Given the description of an element on the screen output the (x, y) to click on. 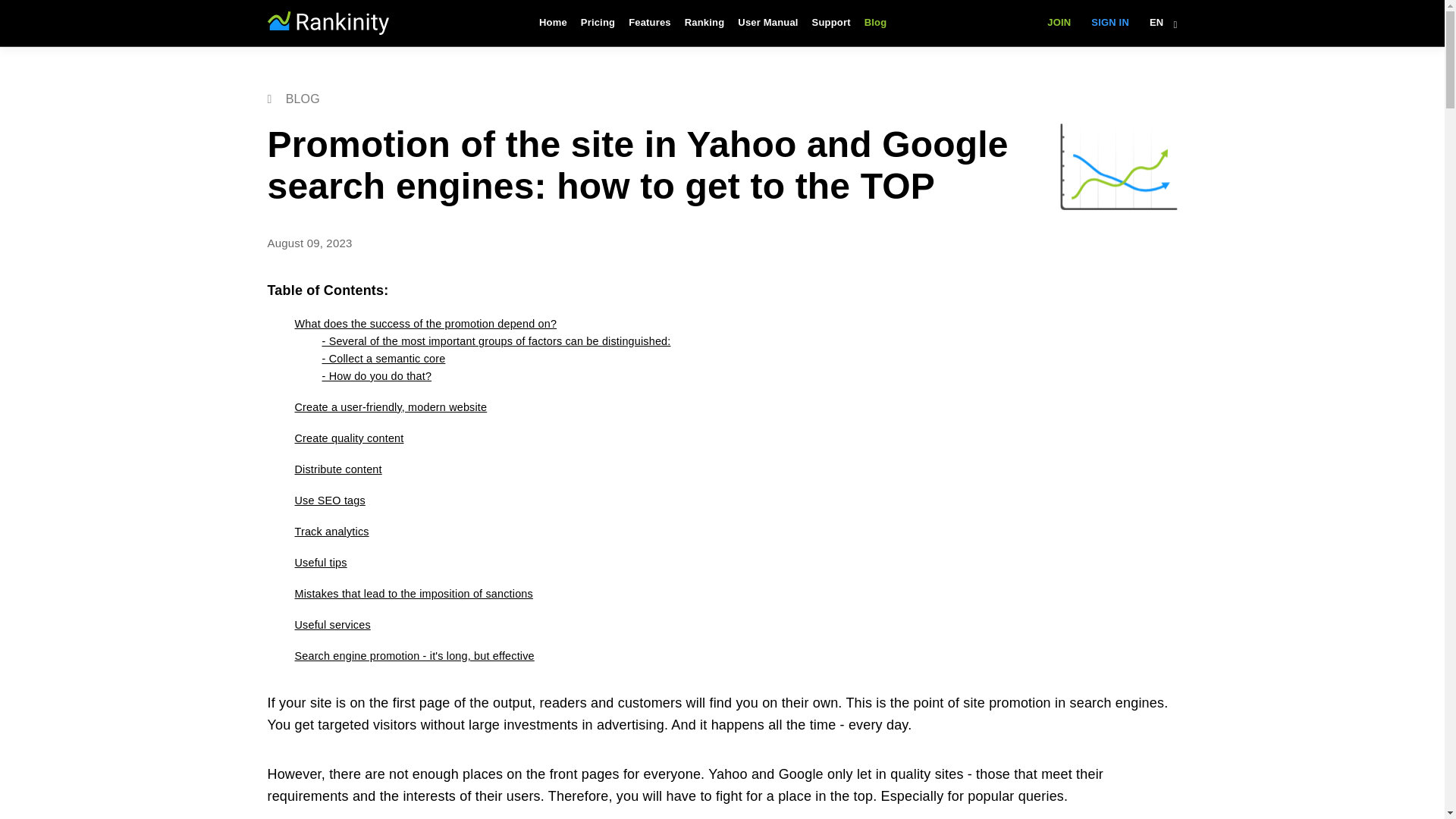
Blog (875, 22)
Pricing (597, 22)
- How do you do that? (375, 376)
Useful services (331, 624)
Features (649, 22)
User Manual (767, 22)
Search engine promotion - it's long, but effective (414, 655)
Create a user-friendly, modern website (390, 407)
Home (552, 22)
Support (831, 22)
JOIN (1058, 22)
User Manual (767, 22)
Home (552, 22)
BLOG (292, 98)
